Given the description of an element on the screen output the (x, y) to click on. 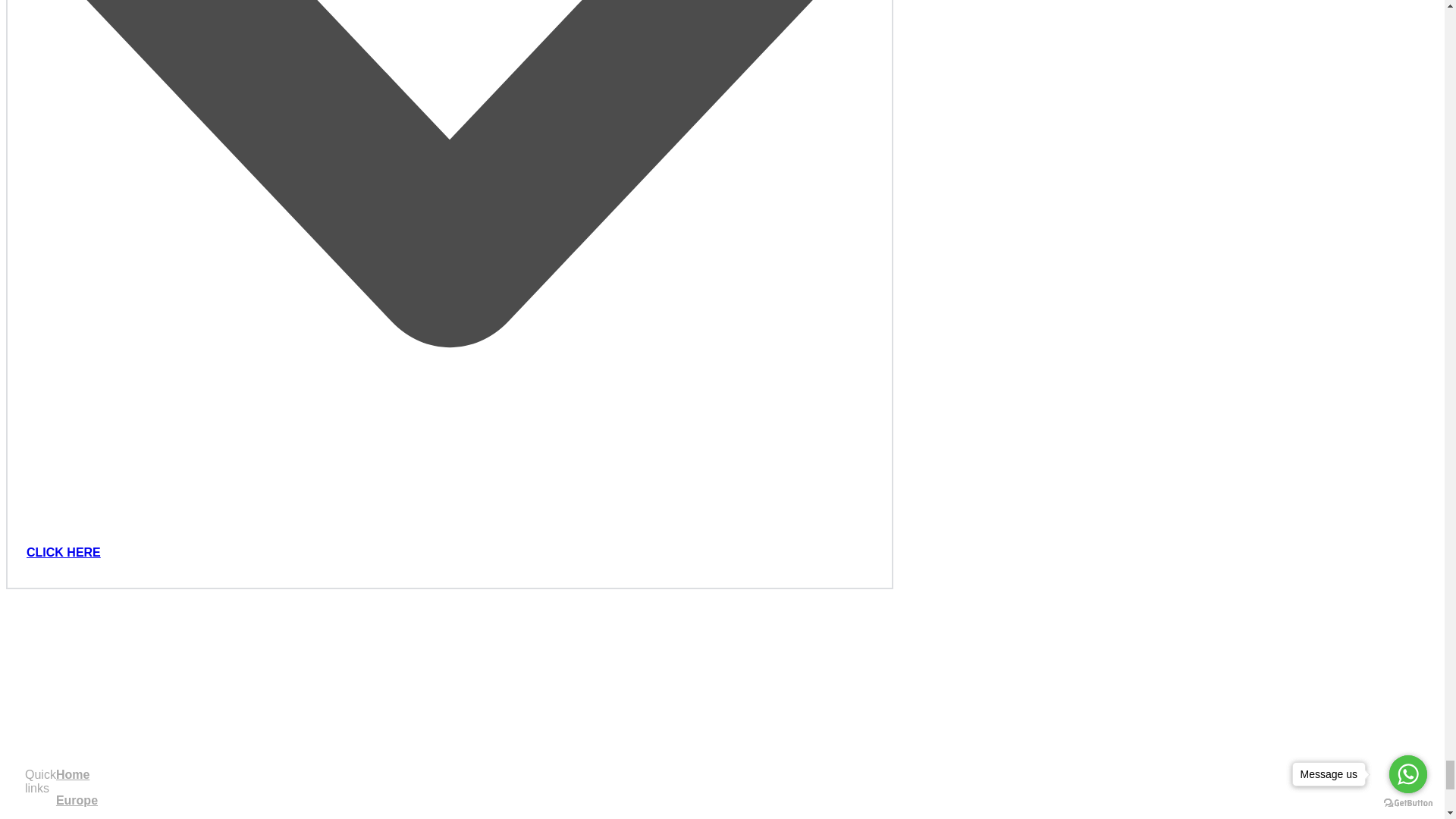
CLICK HERE (63, 552)
Europe (76, 799)
Home (72, 774)
